Given the description of an element on the screen output the (x, y) to click on. 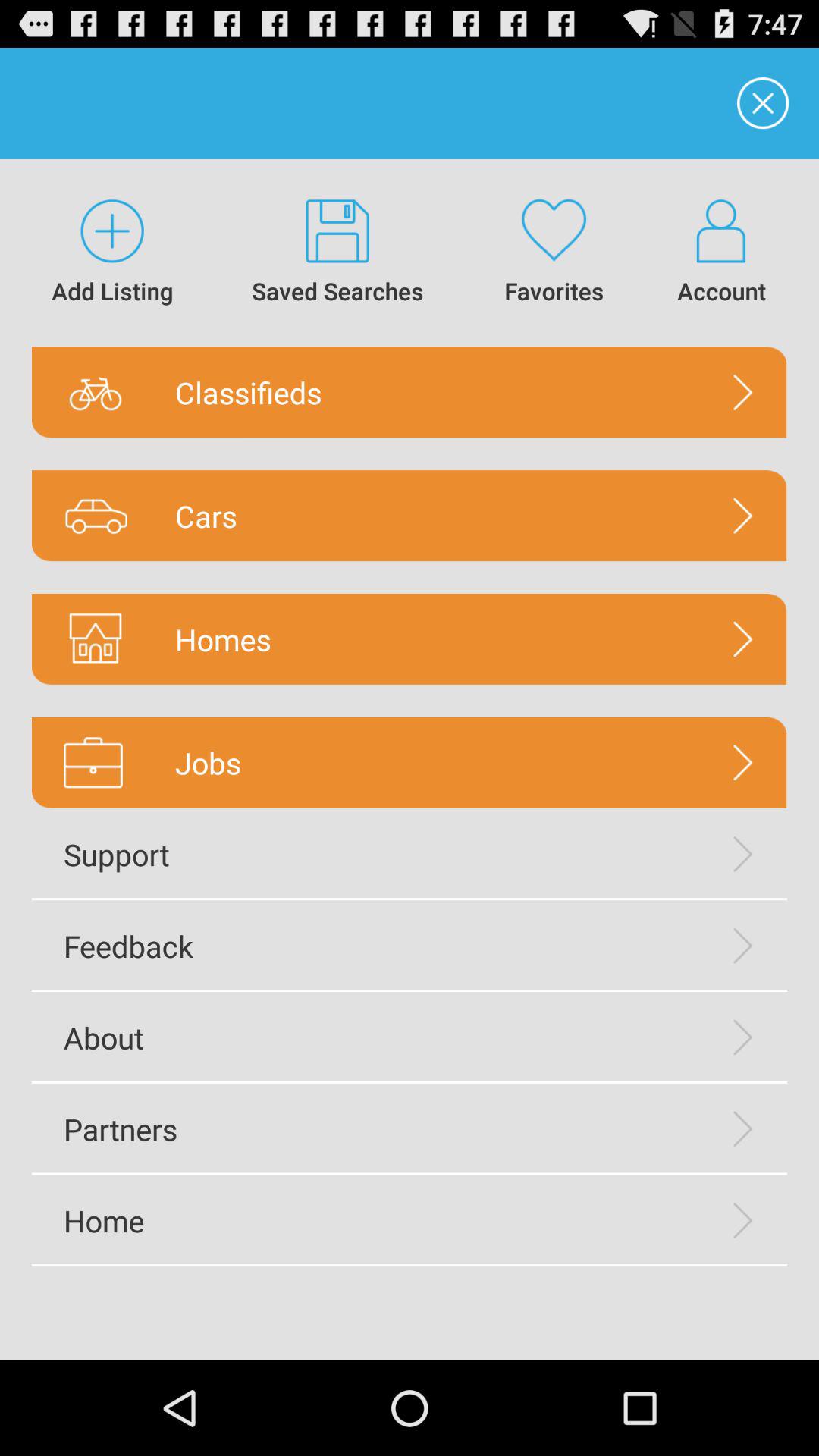
click the add listing item (112, 253)
